Given the description of an element on the screen output the (x, y) to click on. 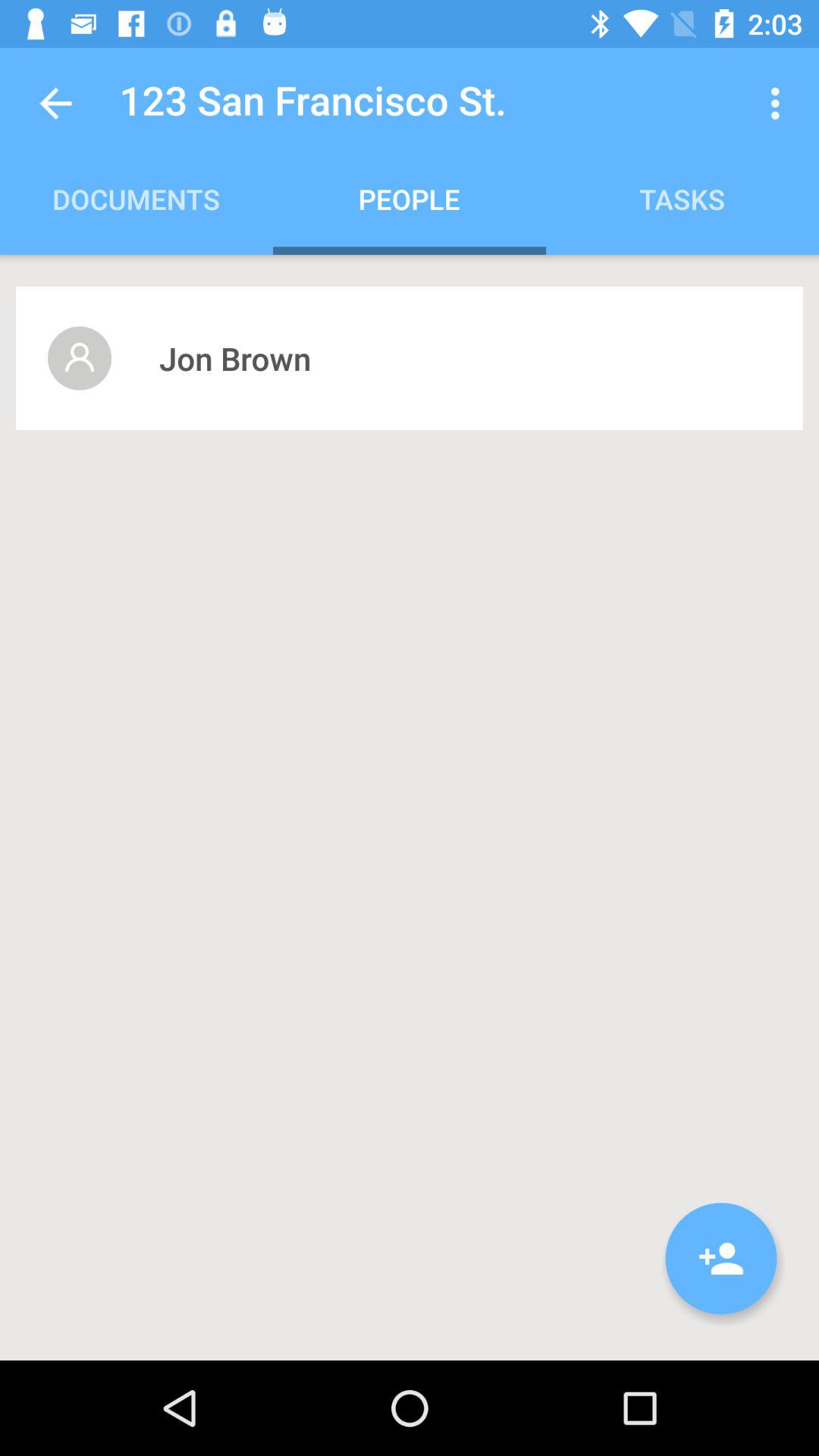
turn on icon below jon brown icon (721, 1258)
